Given the description of an element on the screen output the (x, y) to click on. 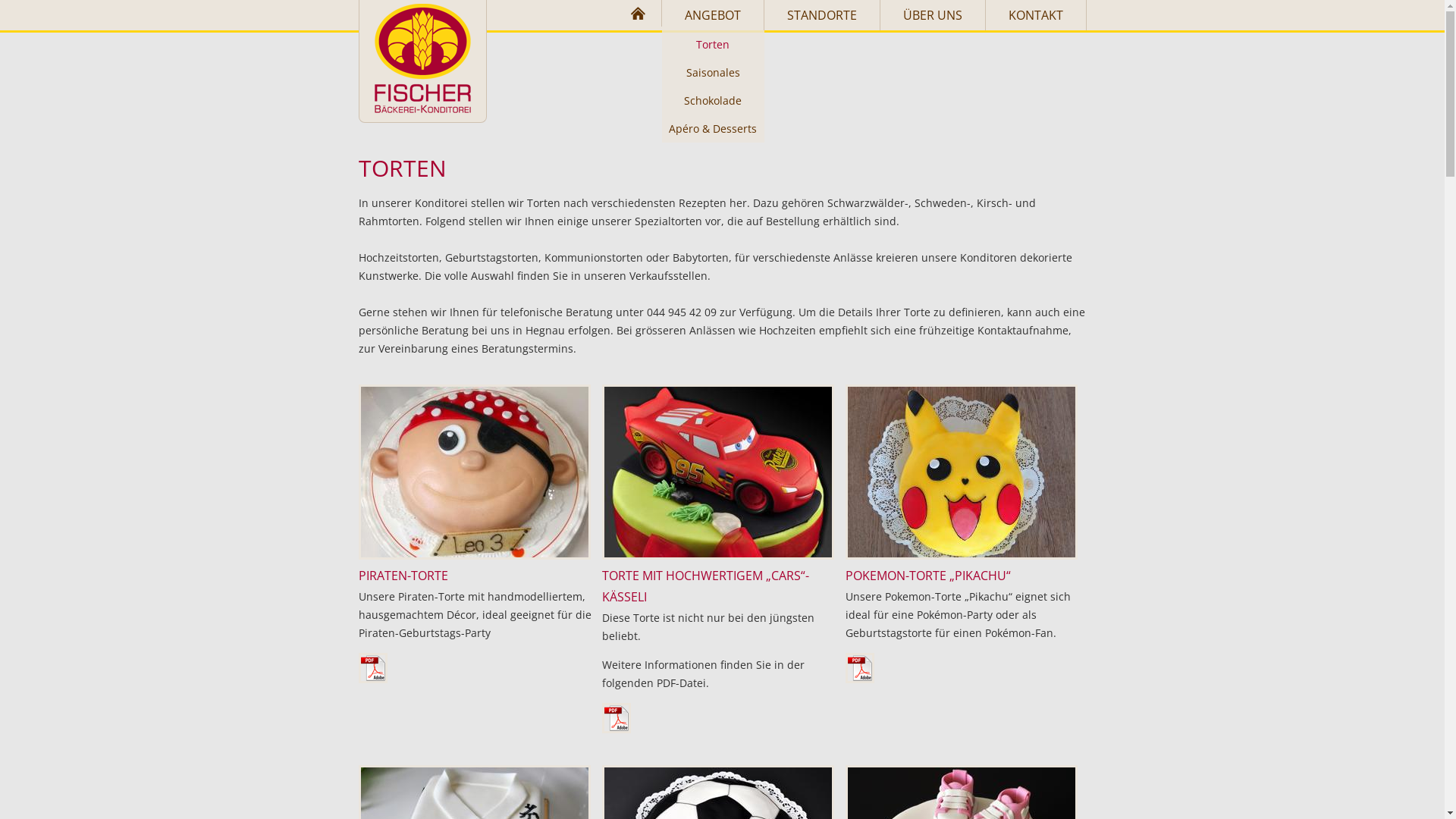
KONTAKT Element type: text (1035, 15)
application/pdf Element type: hover (616, 717)
ANGEBOT Element type: text (712, 15)
Schokolade Element type: text (712, 100)
Saisonales Element type: text (712, 72)
application/pdf Element type: hover (371, 667)
application/pdf Element type: hover (858, 667)
Direkt zum Inhalt Element type: text (43, 0)
STANDORTE Element type: text (822, 15)
HOME Element type: text (638, 13)
Startseite Element type: hover (421, 61)
Torten Element type: text (712, 44)
